Given the description of an element on the screen output the (x, y) to click on. 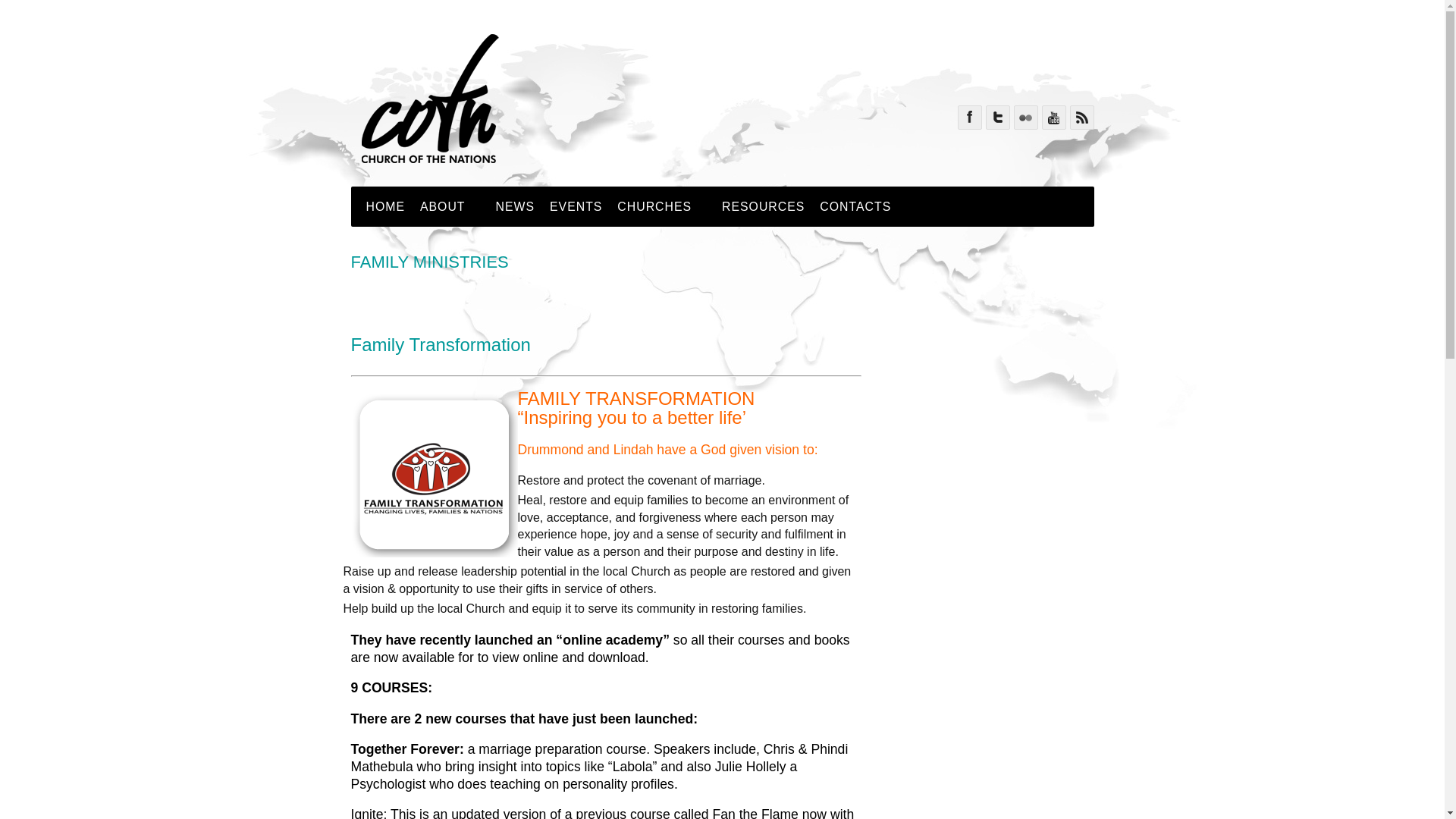
HOME (385, 206)
EVENTS (575, 206)
CHURCHES (662, 206)
CONTACTS (855, 206)
ABOUT (449, 206)
NEWS (515, 206)
RESOURCES (763, 206)
